Given the description of an element on the screen output the (x, y) to click on. 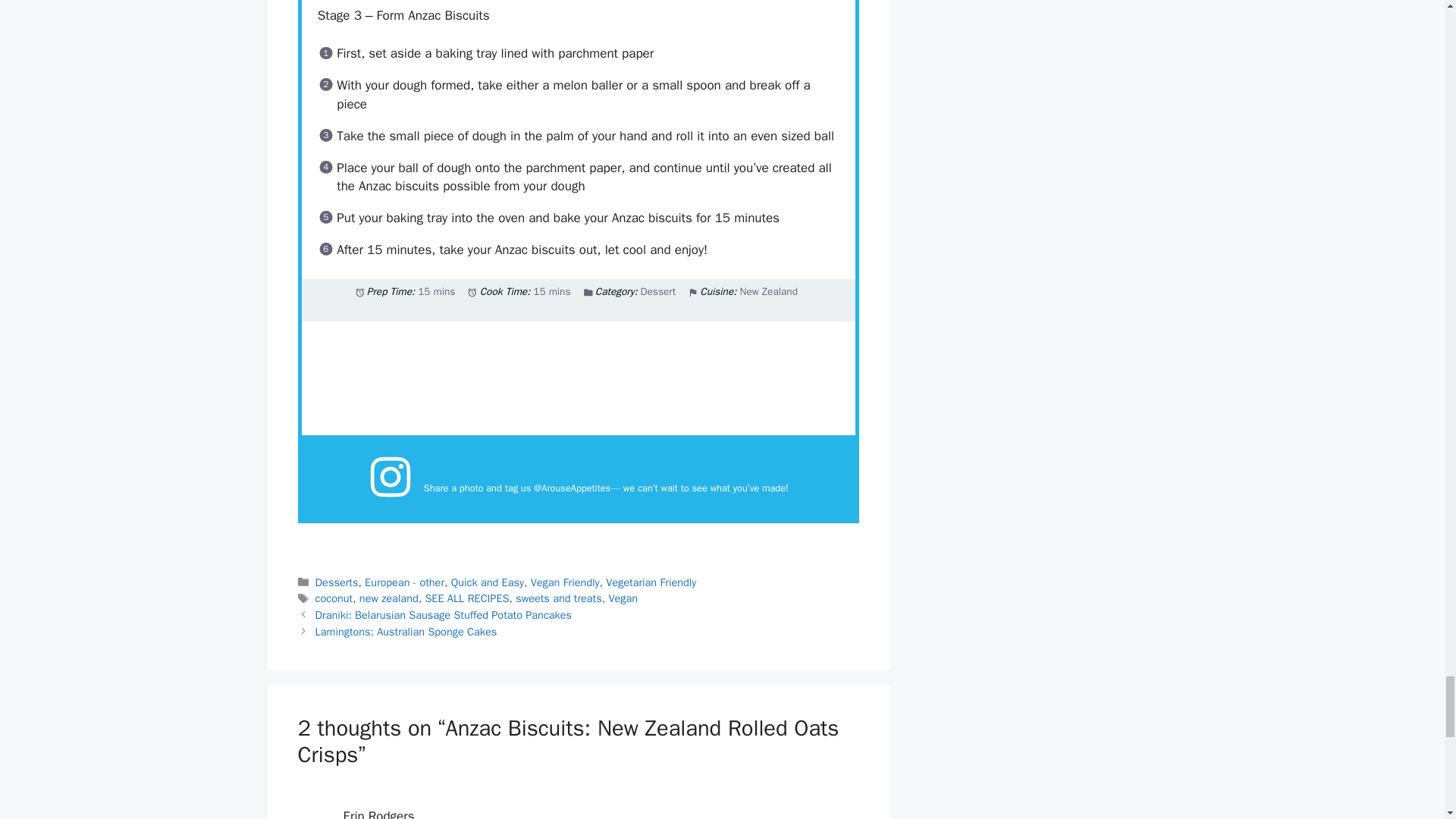
nutritional information (578, 377)
Desserts (336, 581)
